Given the description of an element on the screen output the (x, y) to click on. 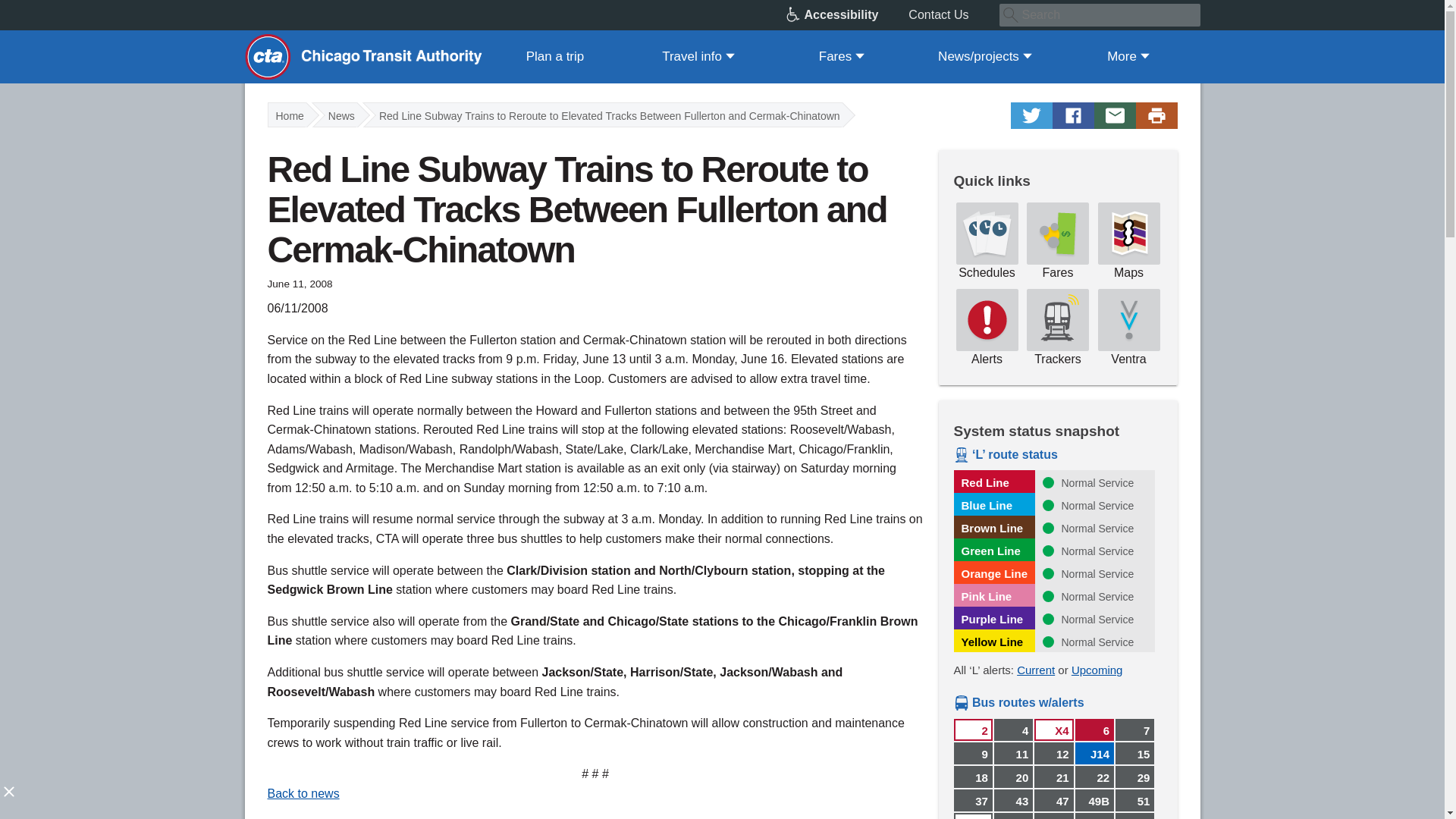
Accessibility (847, 15)
Travel info (698, 56)
Plan a trip (555, 56)
Contact Us (953, 15)
